Given the description of an element on the screen output the (x, y) to click on. 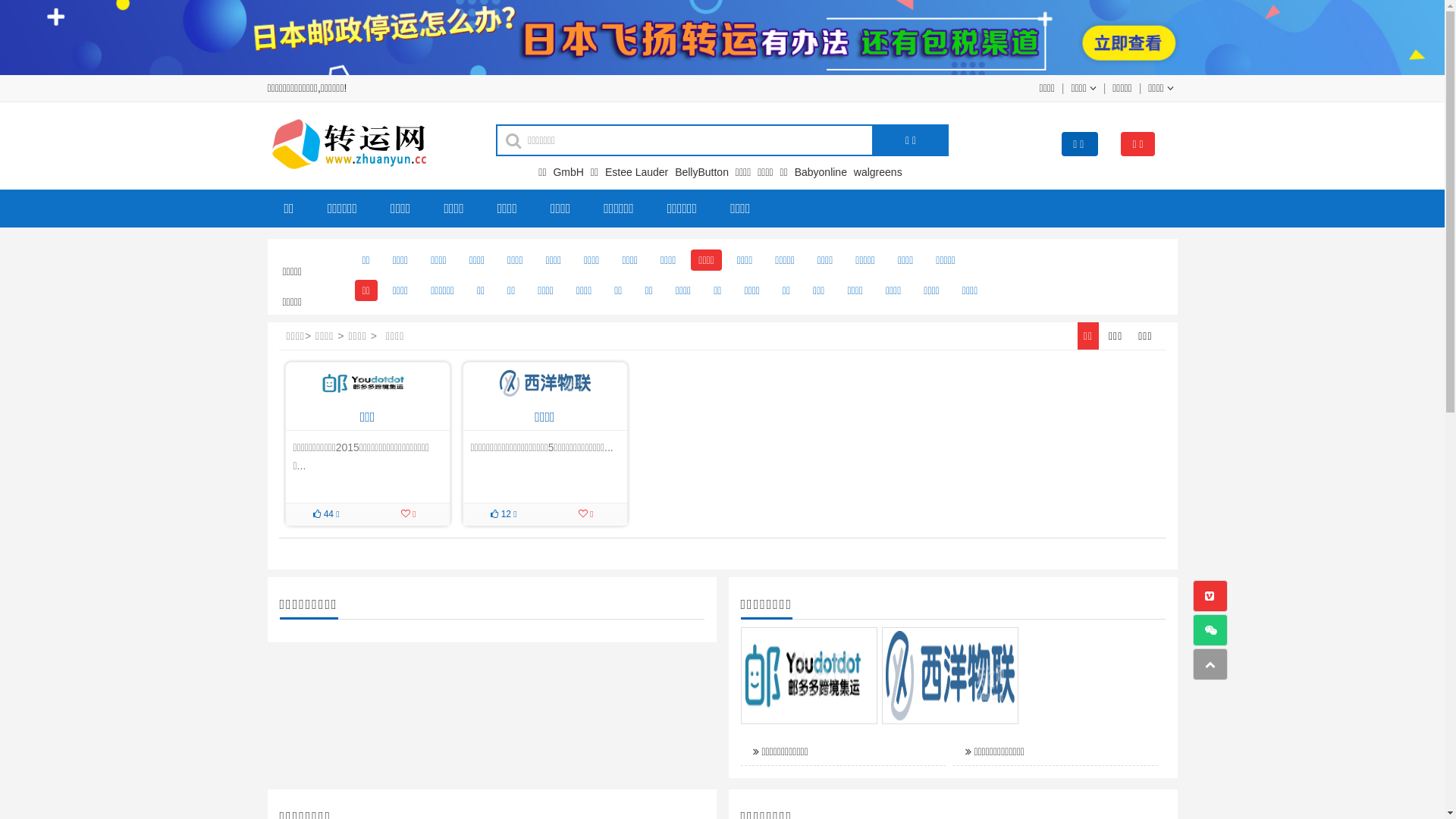
BellyButton Element type: text (703, 172)
GmbH Element type: text (569, 172)
Babyonline Element type: text (822, 172)
Estee Lauder Element type: text (638, 172)
walgreens Element type: text (879, 172)
